Given the description of an element on the screen output the (x, y) to click on. 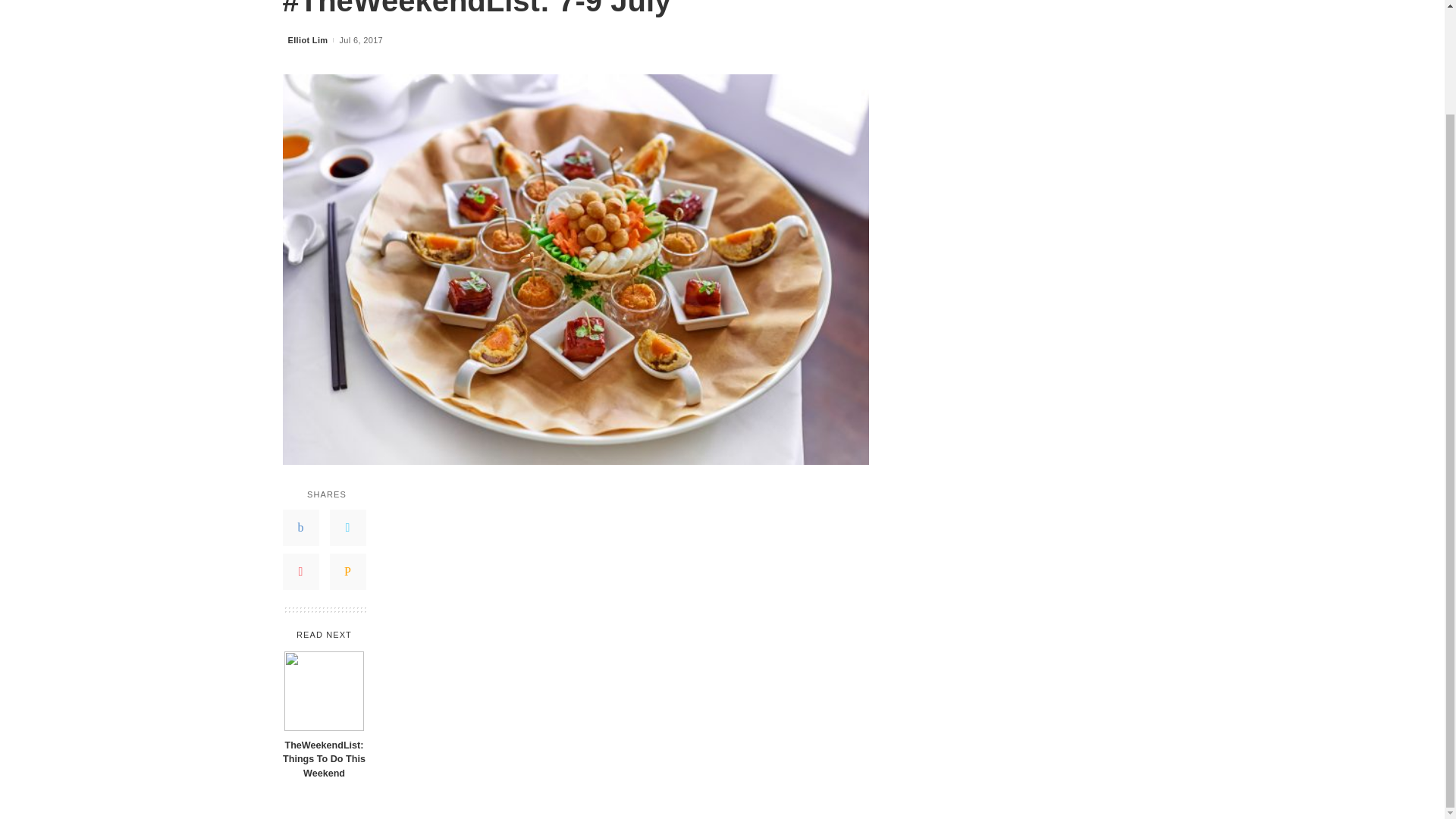
Email (347, 571)
Twitter (347, 527)
Pinterest (300, 571)
Facebook (300, 527)
